Given the description of an element on the screen output the (x, y) to click on. 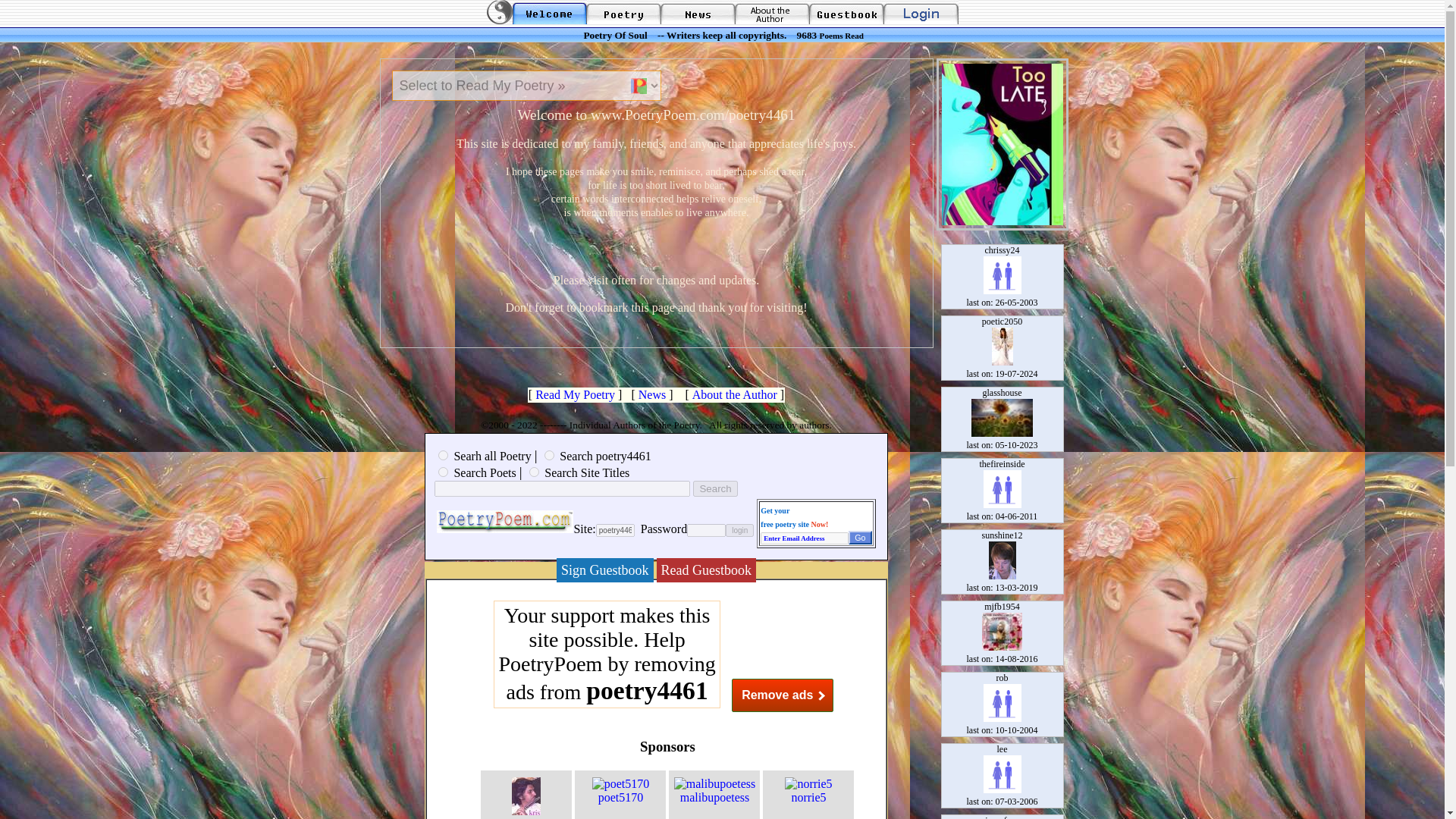
poetry4461 (614, 530)
poet5170 (620, 790)
Sign Guestbook (604, 570)
News (652, 394)
dreamweaver (526, 811)
norrie5 (807, 790)
malibupoetess (714, 790)
on (443, 455)
Enter Email Address (804, 538)
About the Author (735, 394)
